Given the description of an element on the screen output the (x, y) to click on. 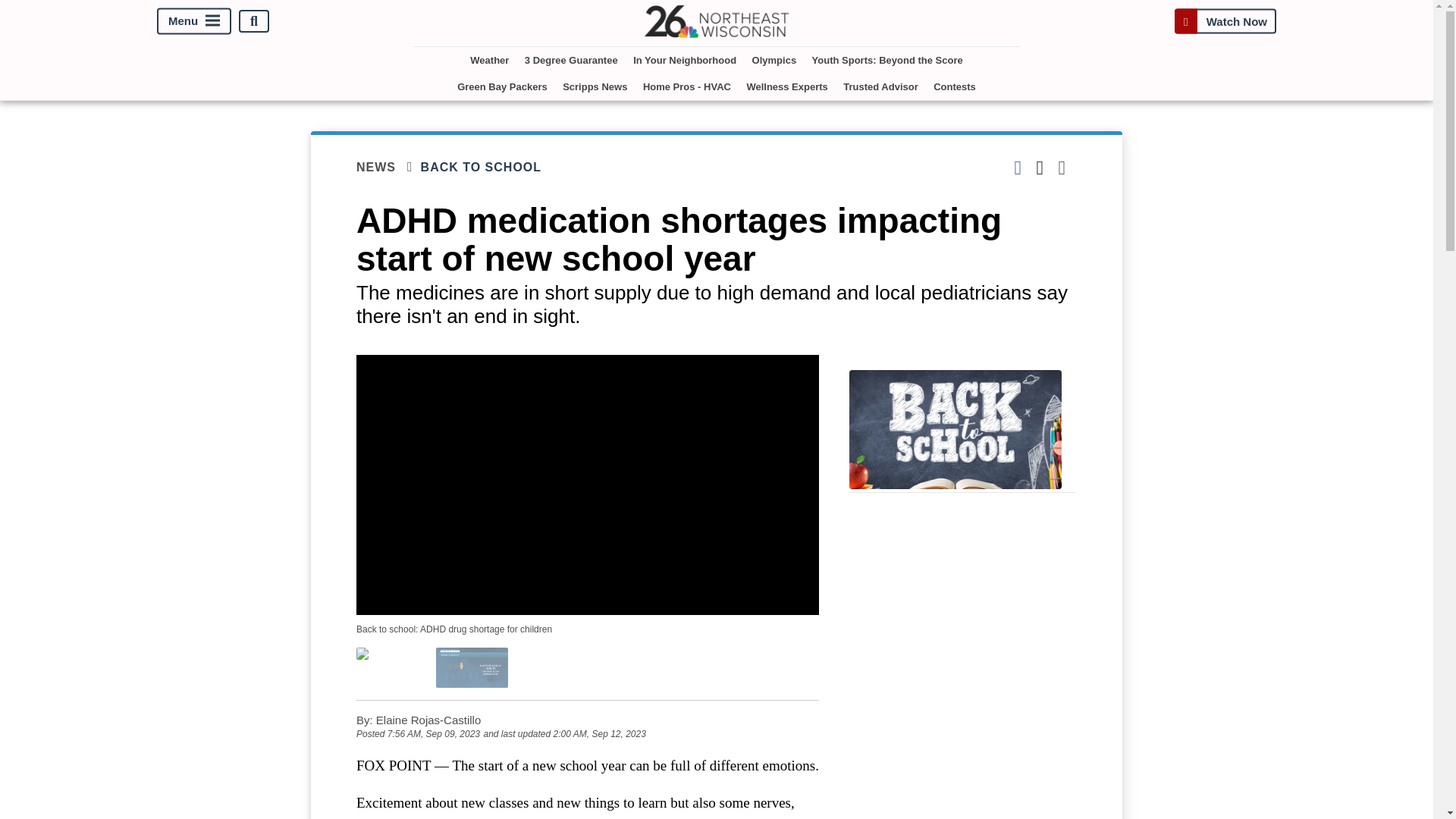
Menu (194, 21)
Watch Now (1224, 21)
